Given the description of an element on the screen output the (x, y) to click on. 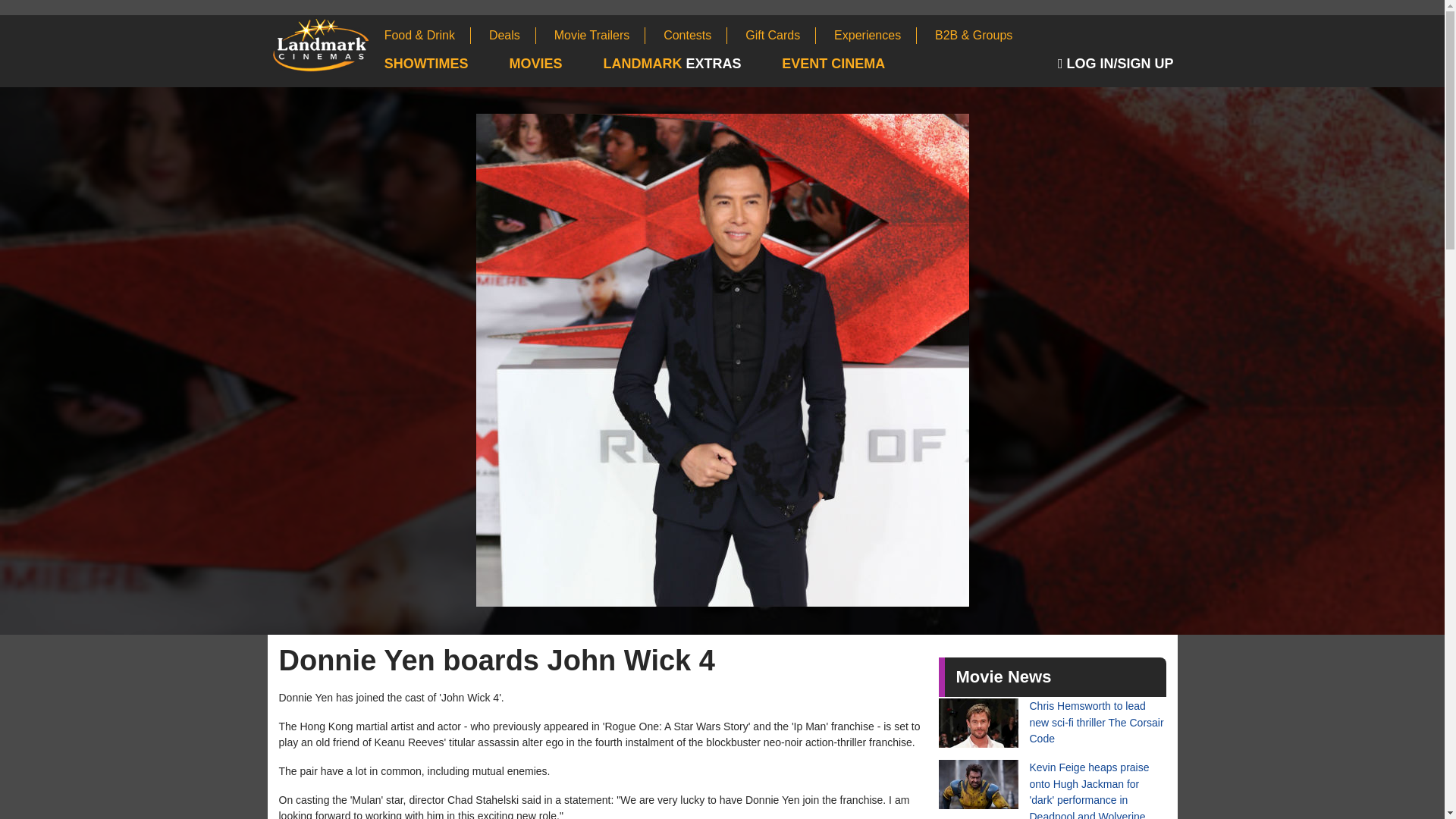
LANDMARK EXTRAS (690, 64)
Movie News (1003, 676)
Movie Experiences and PLF (875, 35)
Browse Movies Now Playing (554, 64)
Deals (512, 35)
MOVIES (554, 64)
Chris Hemsworth to lead new sci-fi thriller The Corsair Code (1052, 722)
SHOWTIMES (445, 64)
Landmark Extras (690, 64)
Sign In to your Landmark Cinemas Account (1117, 64)
Event Cinema (852, 64)
Check Local Showtimes (445, 64)
Gift Cards (780, 35)
EVENT CINEMA (852, 64)
Watch Movie Trailers (600, 35)
